Given the description of an element on the screen output the (x, y) to click on. 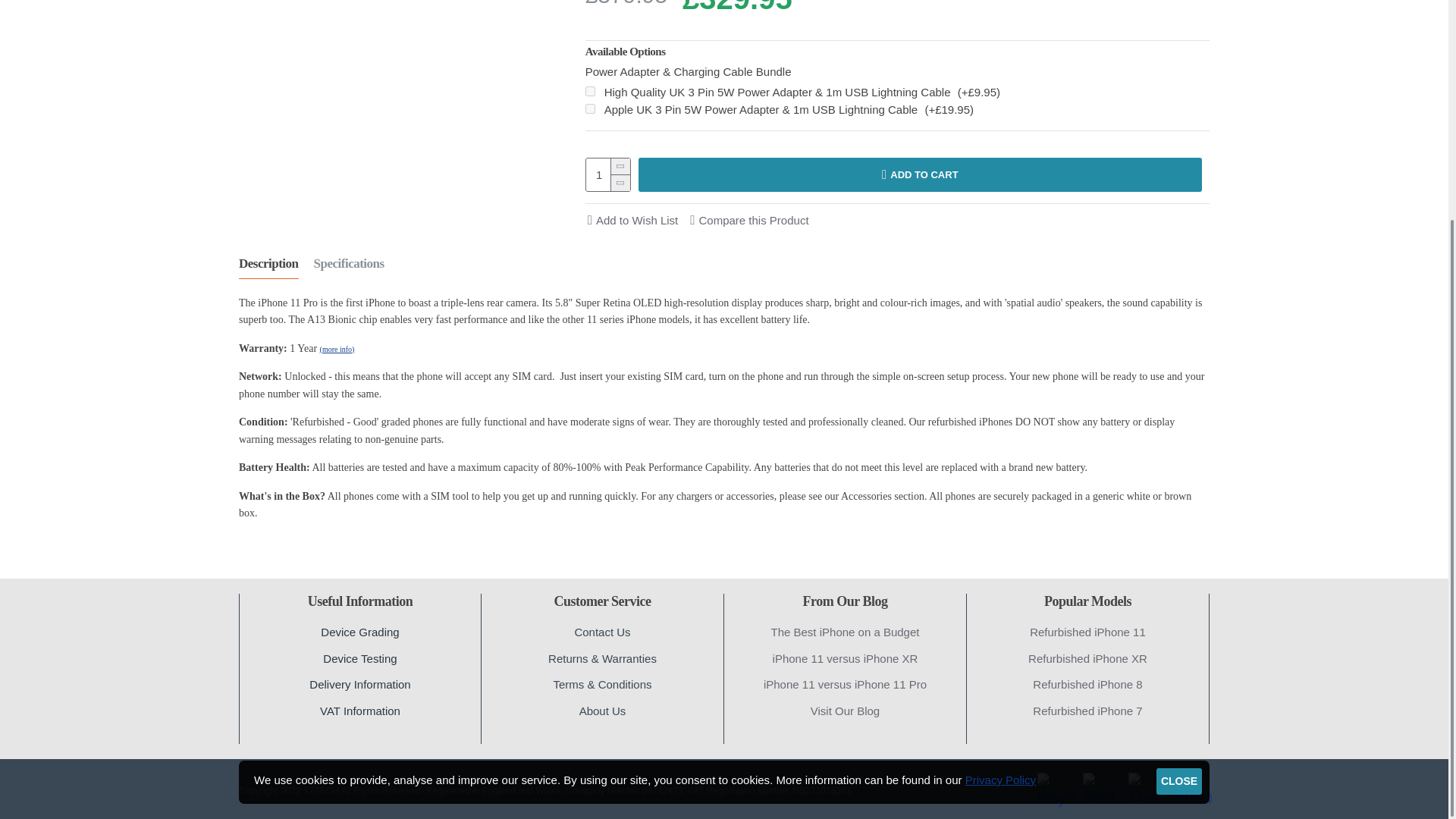
1 (608, 174)
1084 (590, 108)
1083 (590, 91)
